Given the description of an element on the screen output the (x, y) to click on. 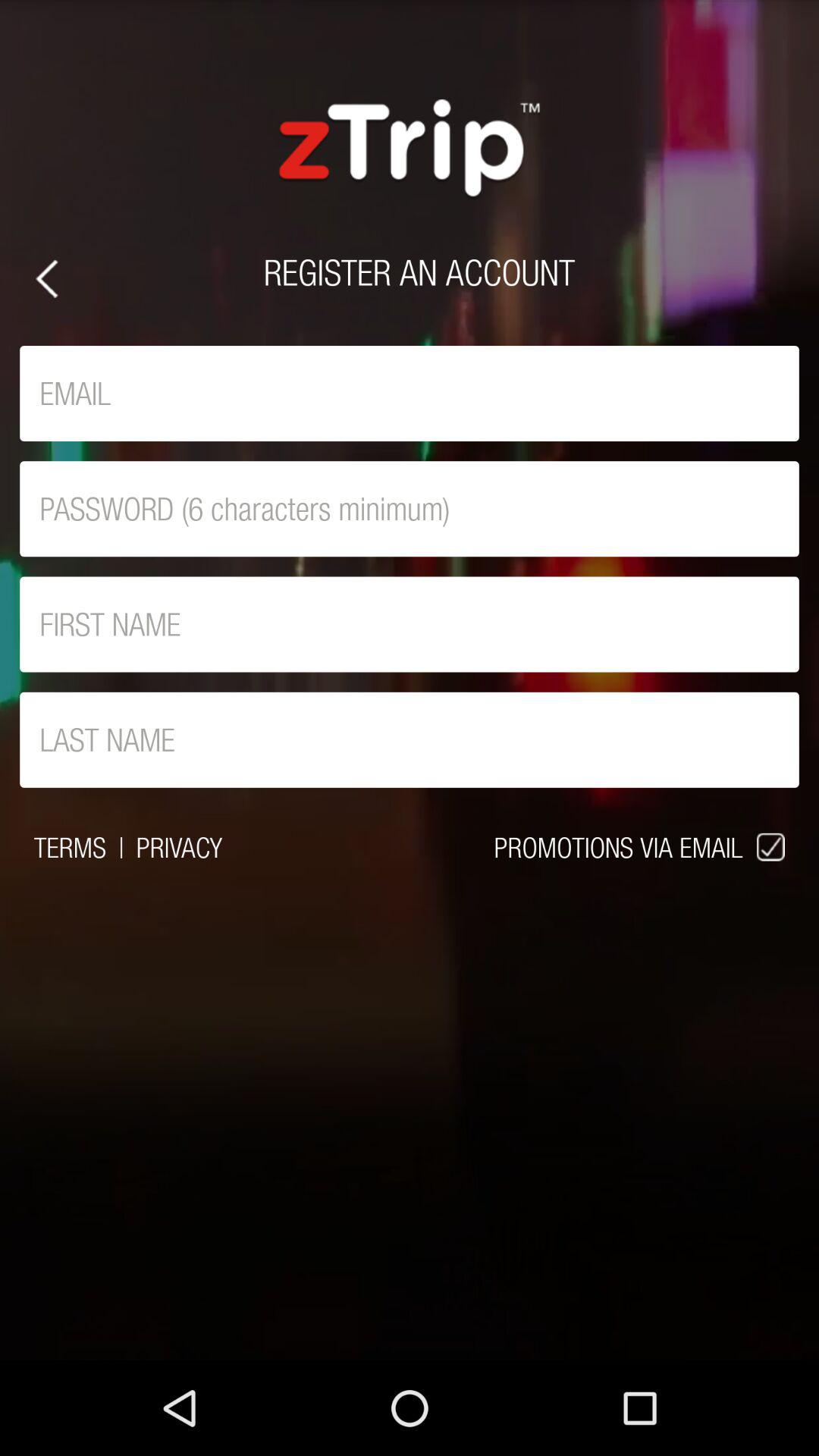
swipe until the terms icon (70, 847)
